Given the description of an element on the screen output the (x, y) to click on. 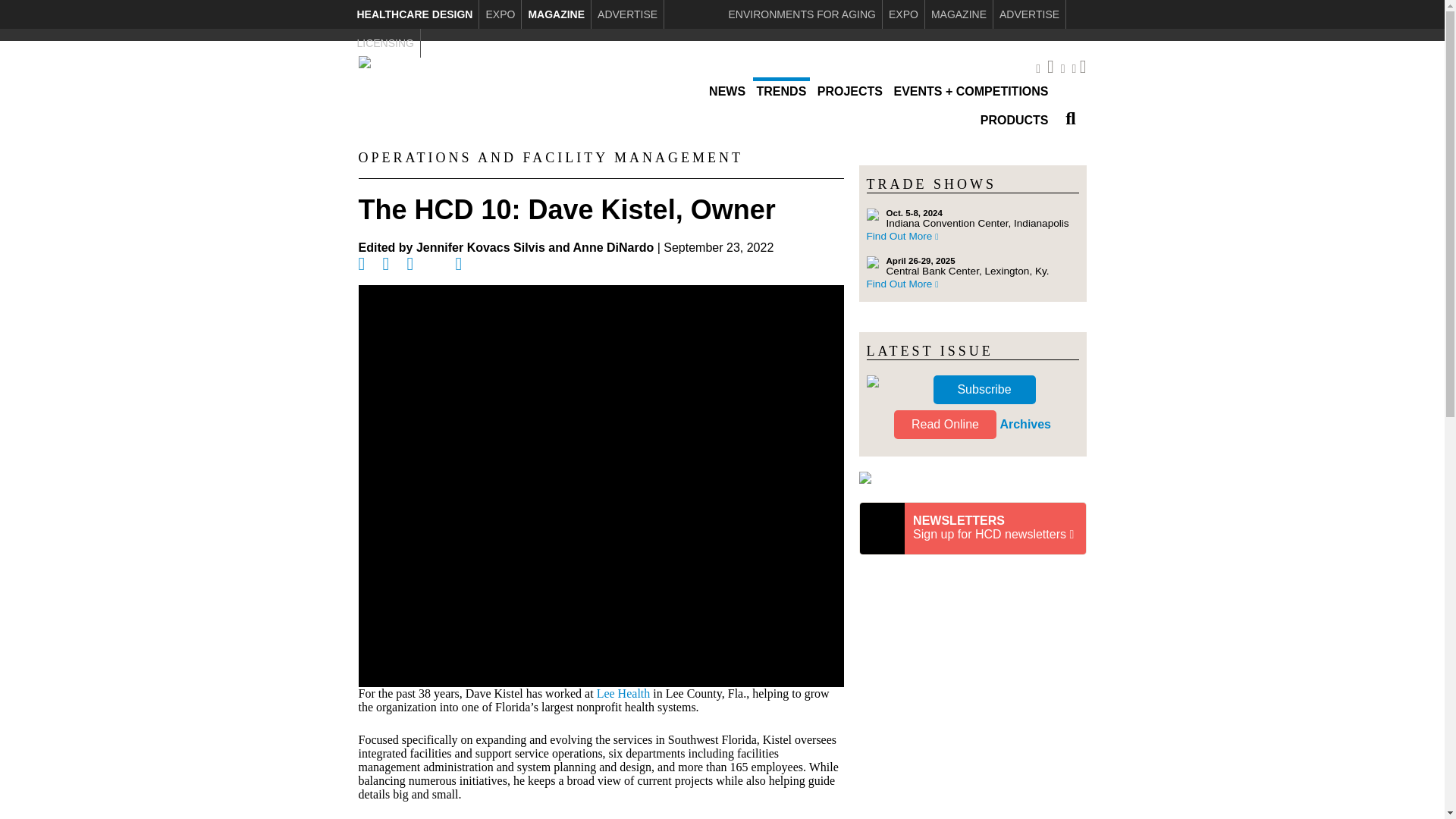
ADVERTISE (627, 14)
MAGAZINE (958, 14)
EXPO (500, 14)
NEWS (726, 91)
ADVERTISE (1028, 14)
LICENSING (384, 42)
MAGAZINE (556, 14)
EXPO (903, 14)
TRENDS (781, 91)
PROJECTS (849, 91)
